Given the description of an element on the screen output the (x, y) to click on. 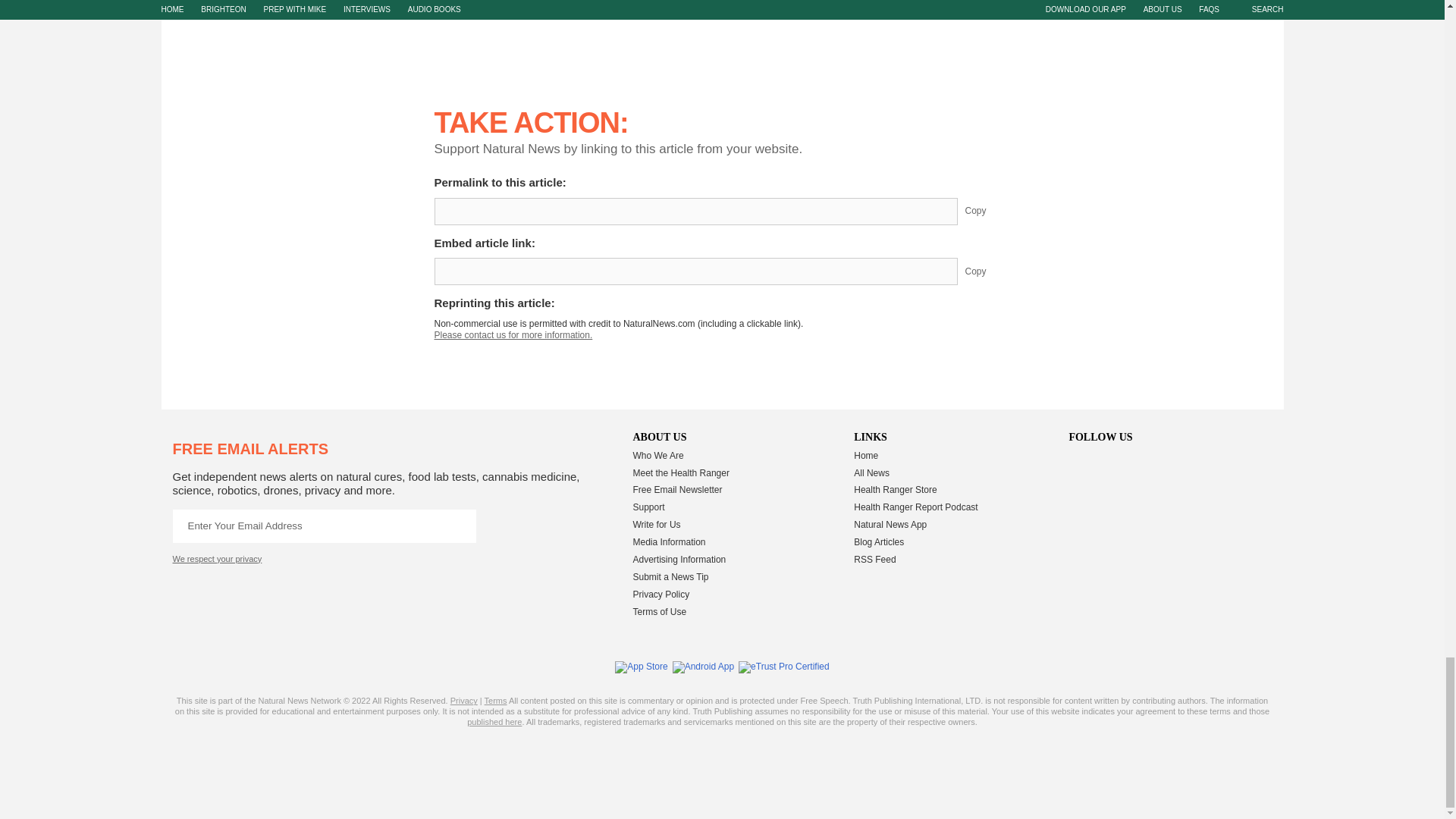
Continue (459, 525)
eTrust Pro Certified (783, 666)
Copy Embed Link (986, 271)
Copy Permalink (986, 211)
